Given the description of an element on the screen output the (x, y) to click on. 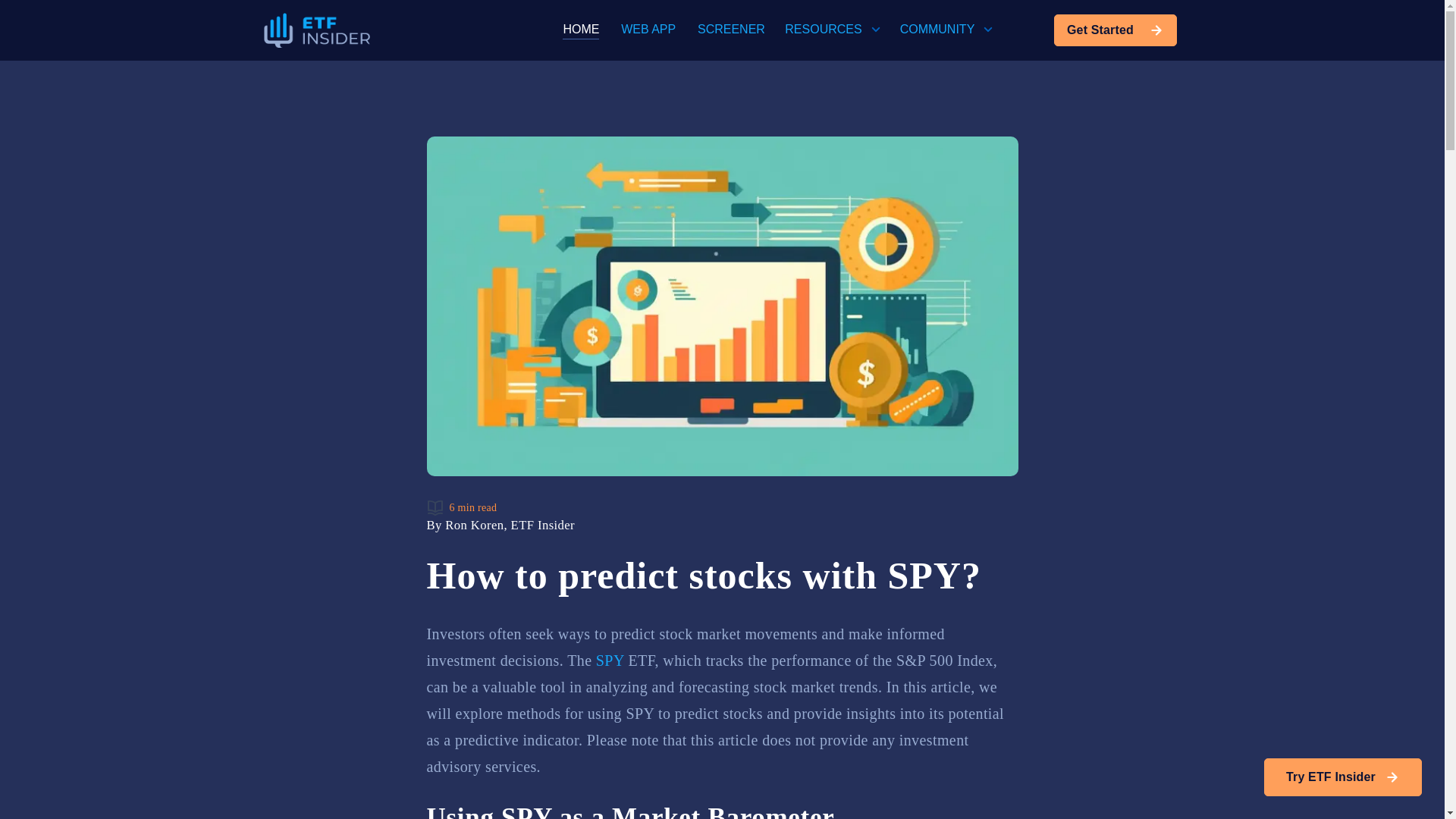
Ron Koren (474, 524)
HOME (580, 30)
WEB APP (648, 29)
Get Started (1115, 29)
Try ETF Insider (1342, 777)
SCREENER (731, 29)
SPY (609, 660)
